Given the description of an element on the screen output the (x, y) to click on. 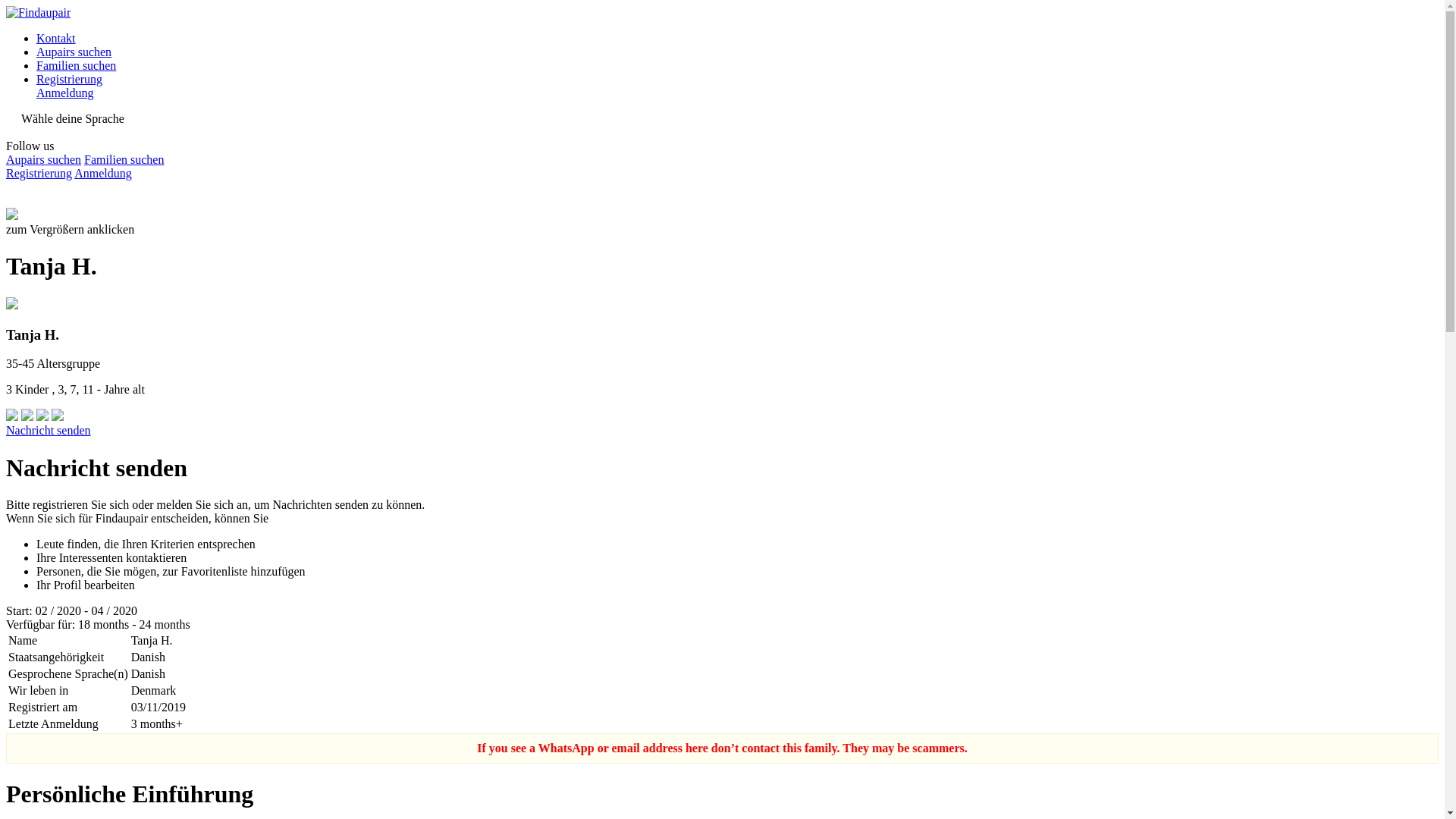
Anmeldung (103, 173)
Findaupair (37, 12)
Kontakt (55, 38)
Registrierung (38, 173)
Registrierung (68, 78)
Familien suchen (76, 65)
Nachricht senden (47, 430)
Familien suchen (123, 159)
Aupairs suchen (43, 159)
Nein, wir rauchen nicht (28, 416)
Nein, wir haben keine Haustiere (43, 416)
Aupairs suchen (74, 51)
Anmeldung (65, 92)
